Given the description of an element on the screen output the (x, y) to click on. 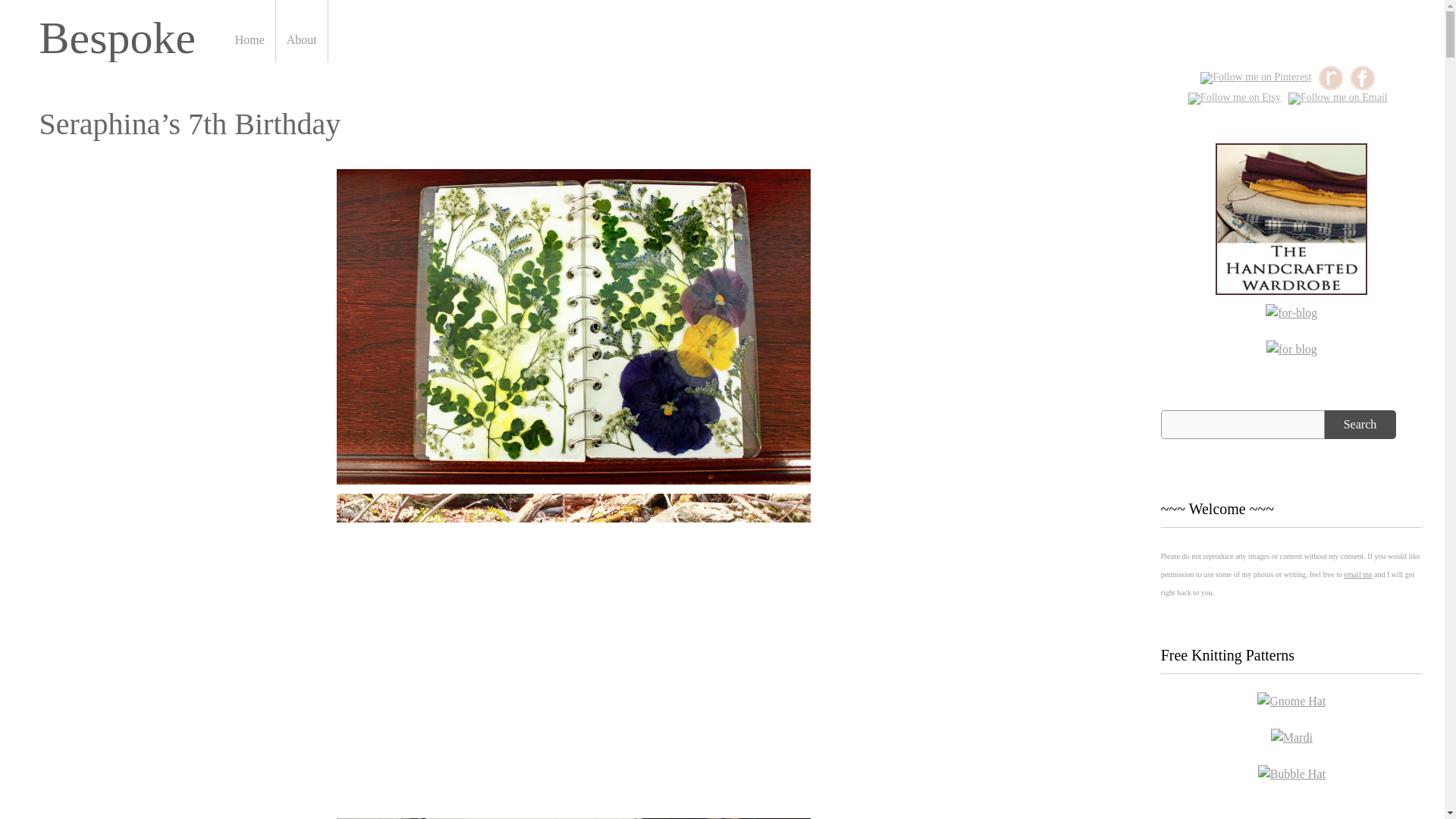
Skip to content (308, 5)
Bespoke (117, 38)
Bespoke (117, 38)
Skip to content (308, 5)
Search (1360, 424)
